Given the description of an element on the screen output the (x, y) to click on. 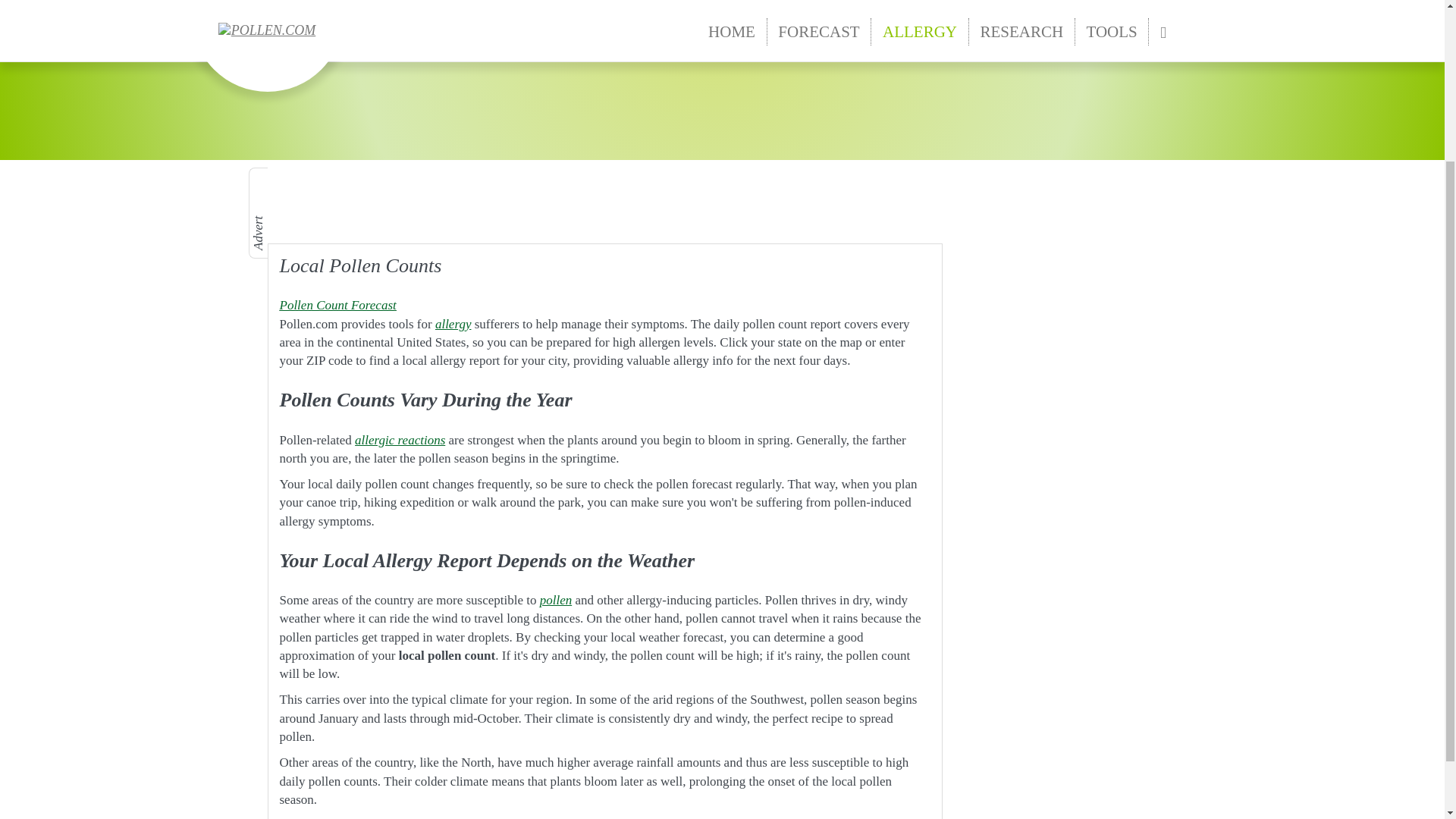
pollen (556, 599)
allergic reactions (400, 440)
allergy (453, 323)
Four Day Allergy Forecast (337, 305)
Pollen Count Forecast (337, 305)
